Given the description of an element on the screen output the (x, y) to click on. 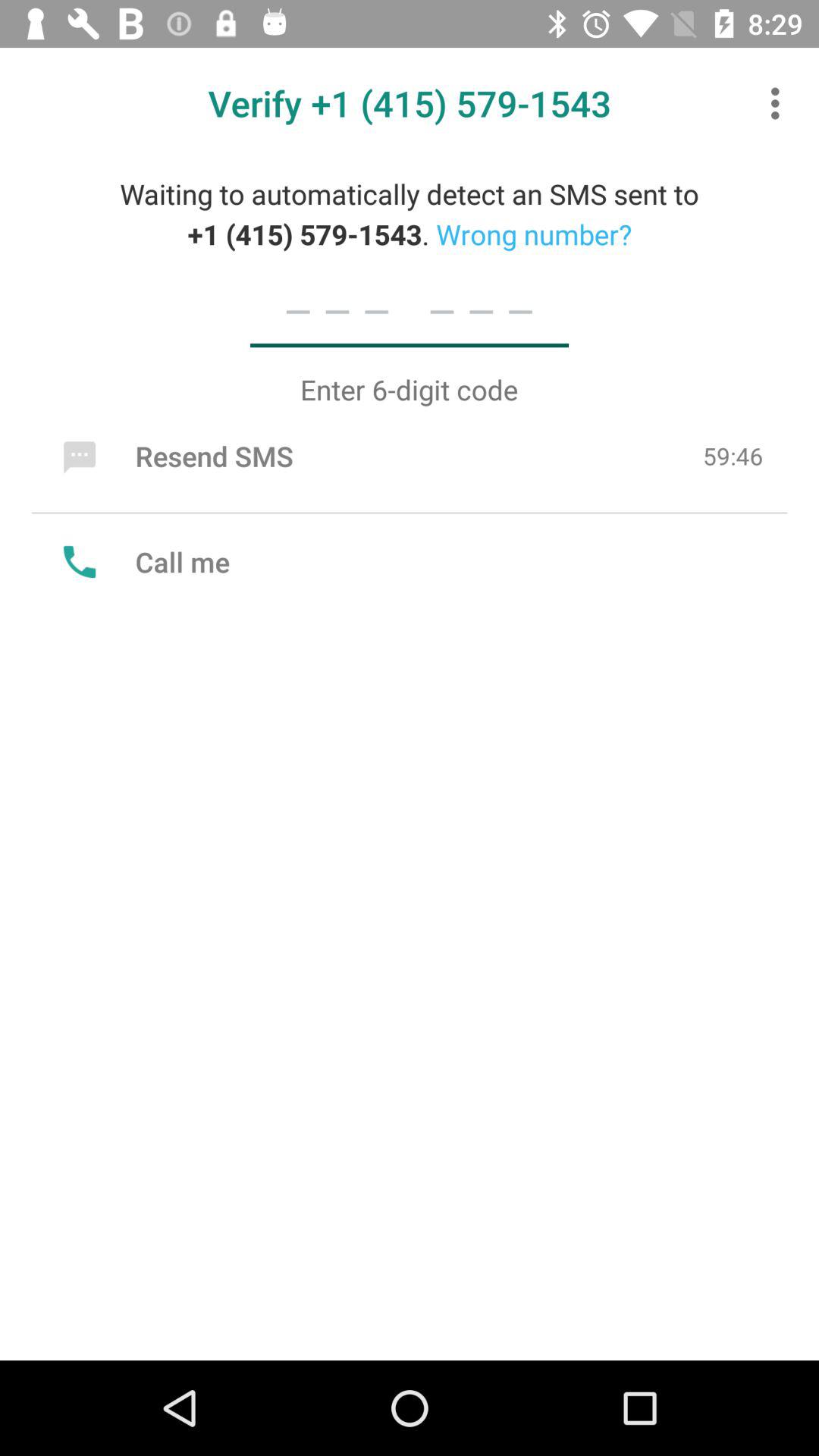
launch the item below the enter 6 digit item (174, 455)
